Given the description of an element on the screen output the (x, y) to click on. 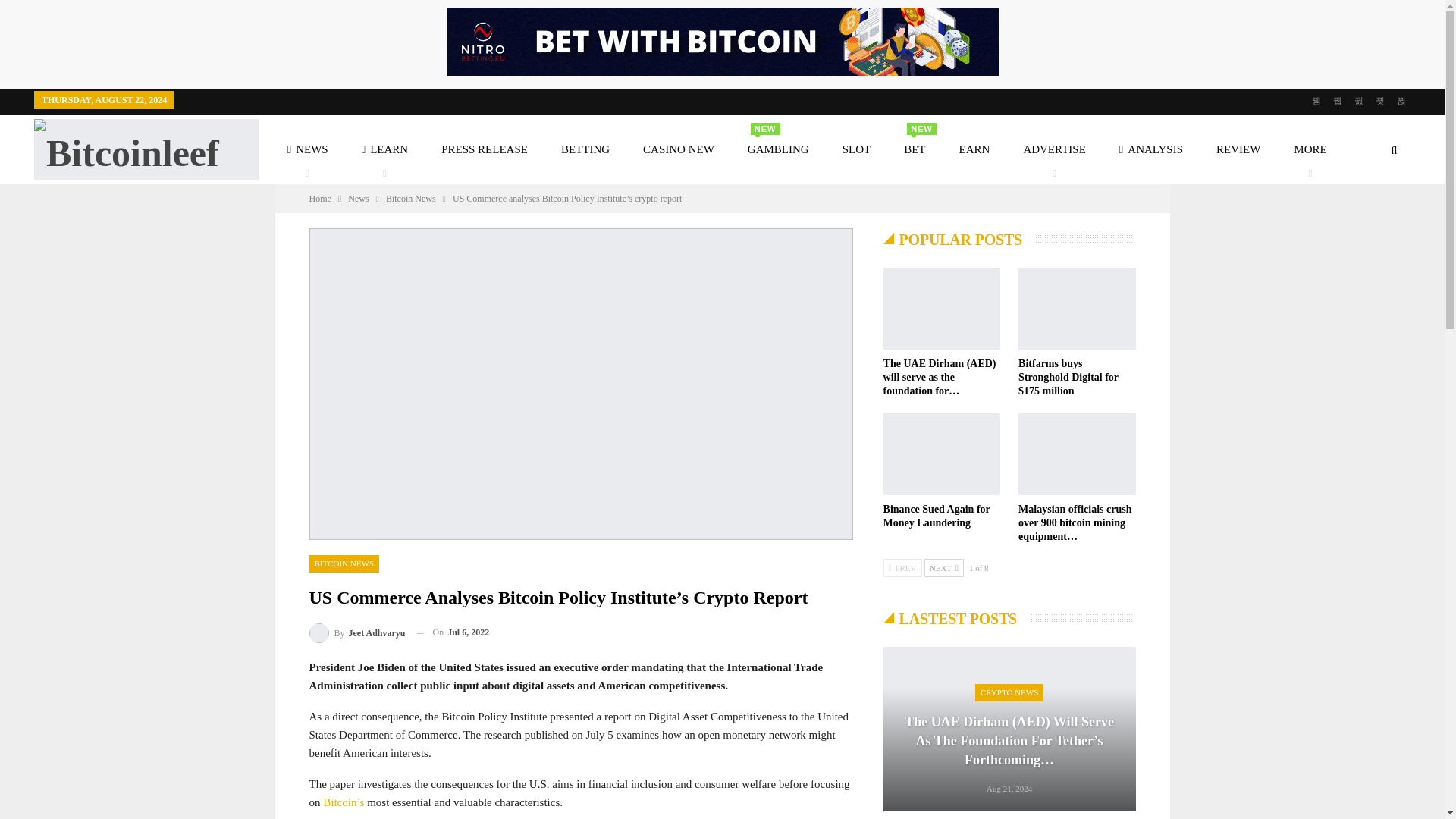
PRESS RELEASE (777, 149)
CASINO NEW (483, 149)
ANALYSIS (678, 149)
Home (1150, 149)
Browse Author Articles (319, 198)
ADVERTISE (357, 632)
